Given the description of an element on the screen output the (x, y) to click on. 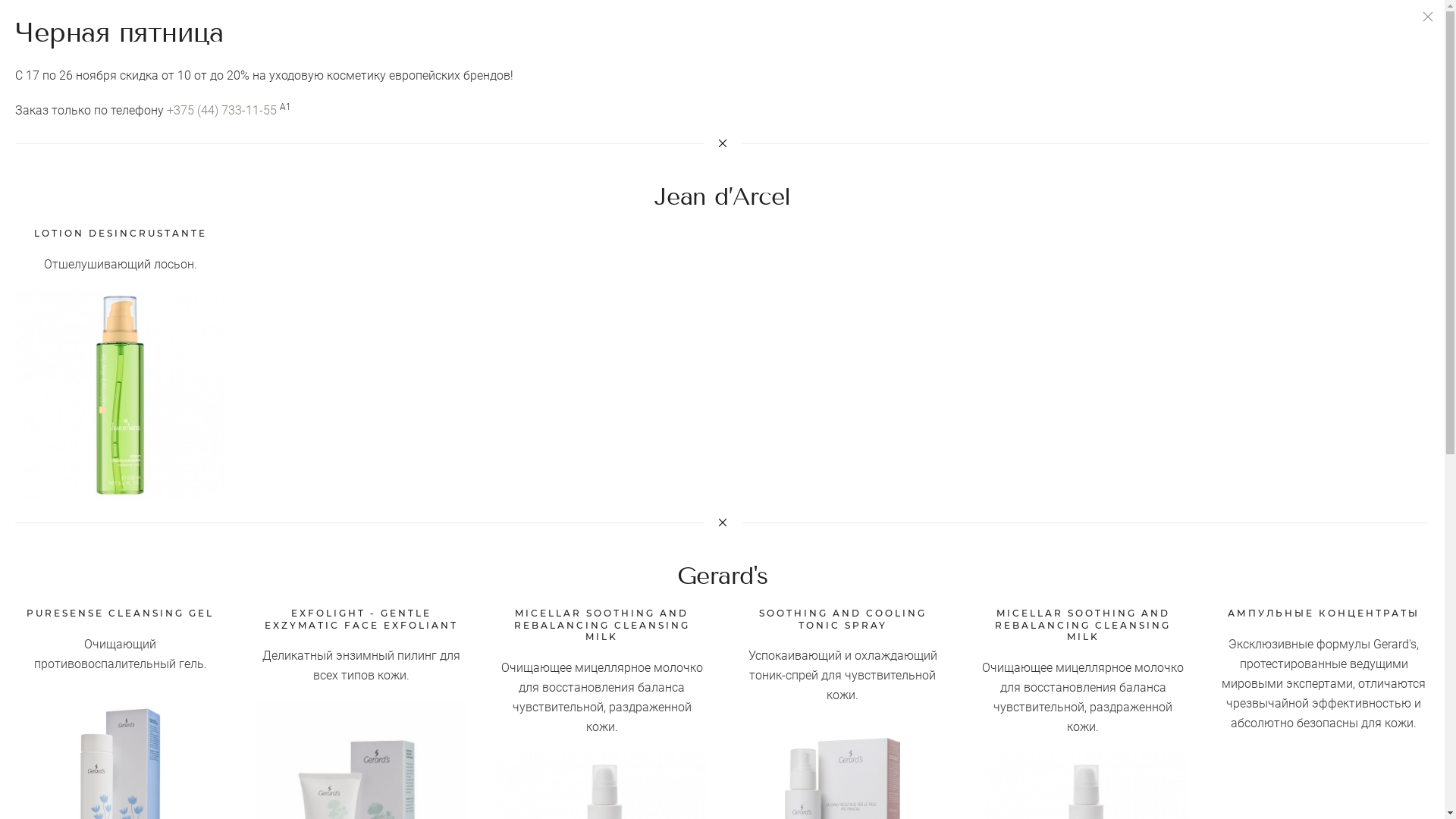
+375 (44) 733-11-55 Element type: text (221, 110)
